Given the description of an element on the screen output the (x, y) to click on. 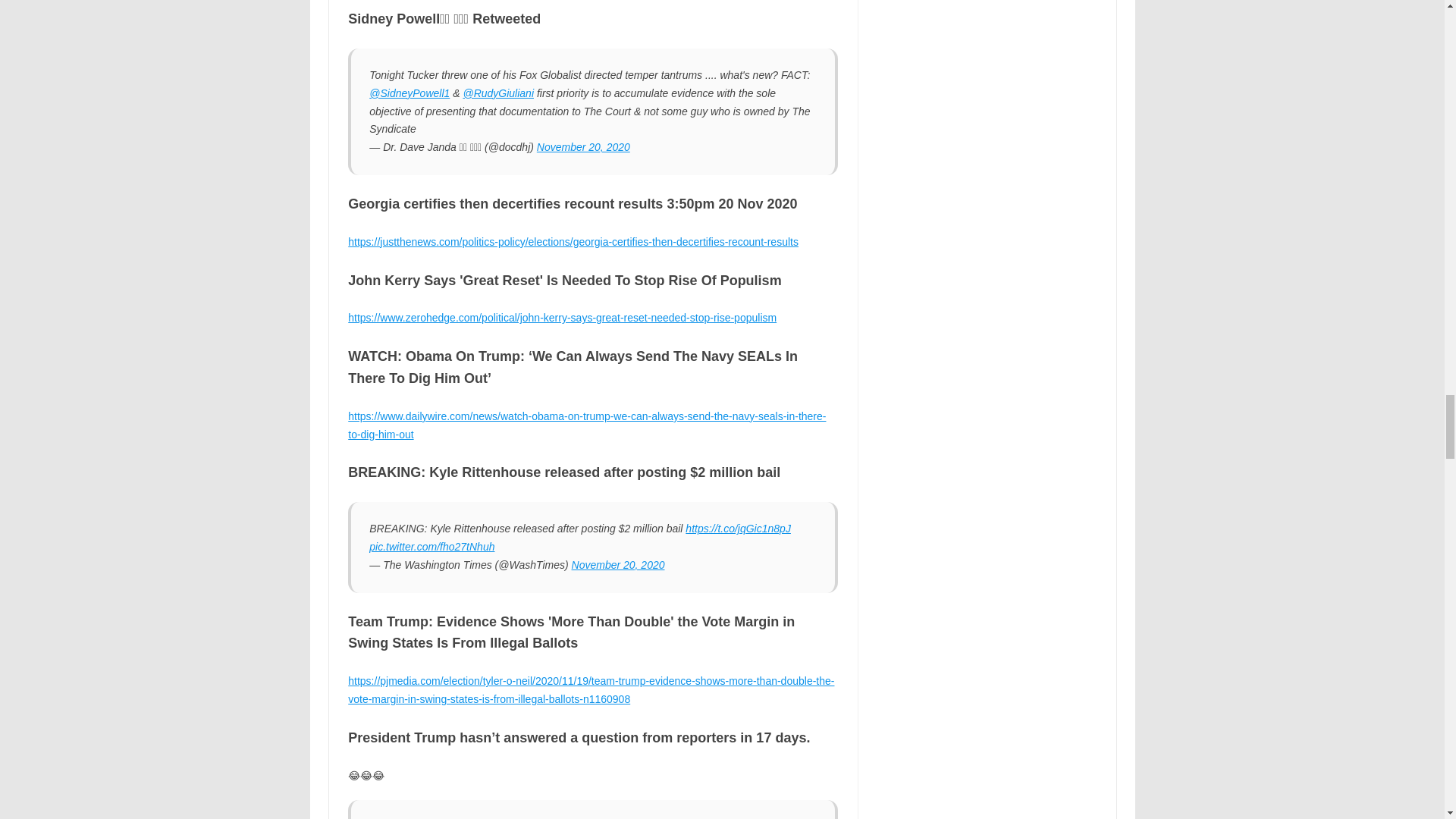
November 20, 2020 (618, 564)
November 20, 2020 (583, 146)
